Given the description of an element on the screen output the (x, y) to click on. 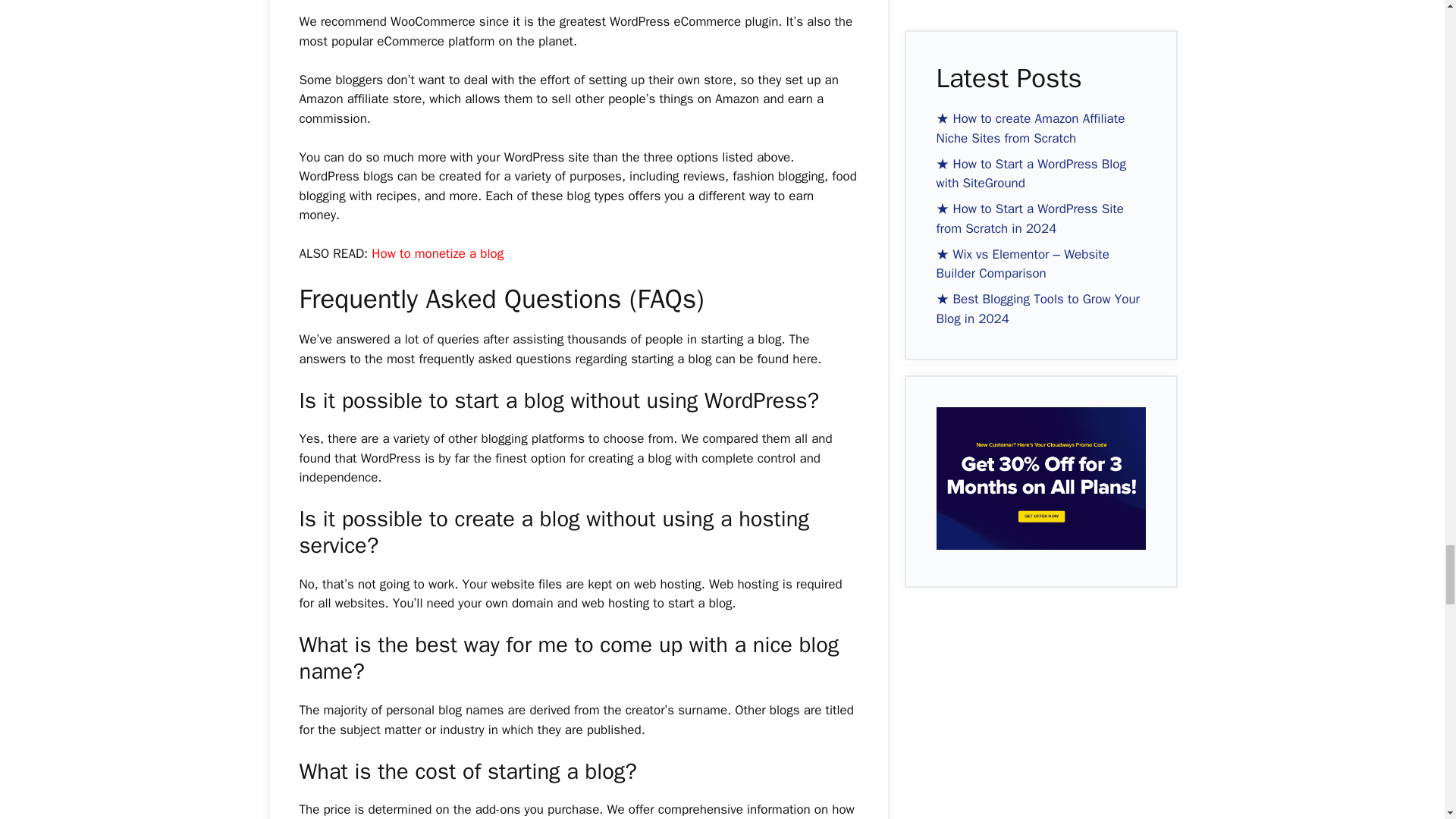
How to monetize a blog (437, 253)
